Given the description of an element on the screen output the (x, y) to click on. 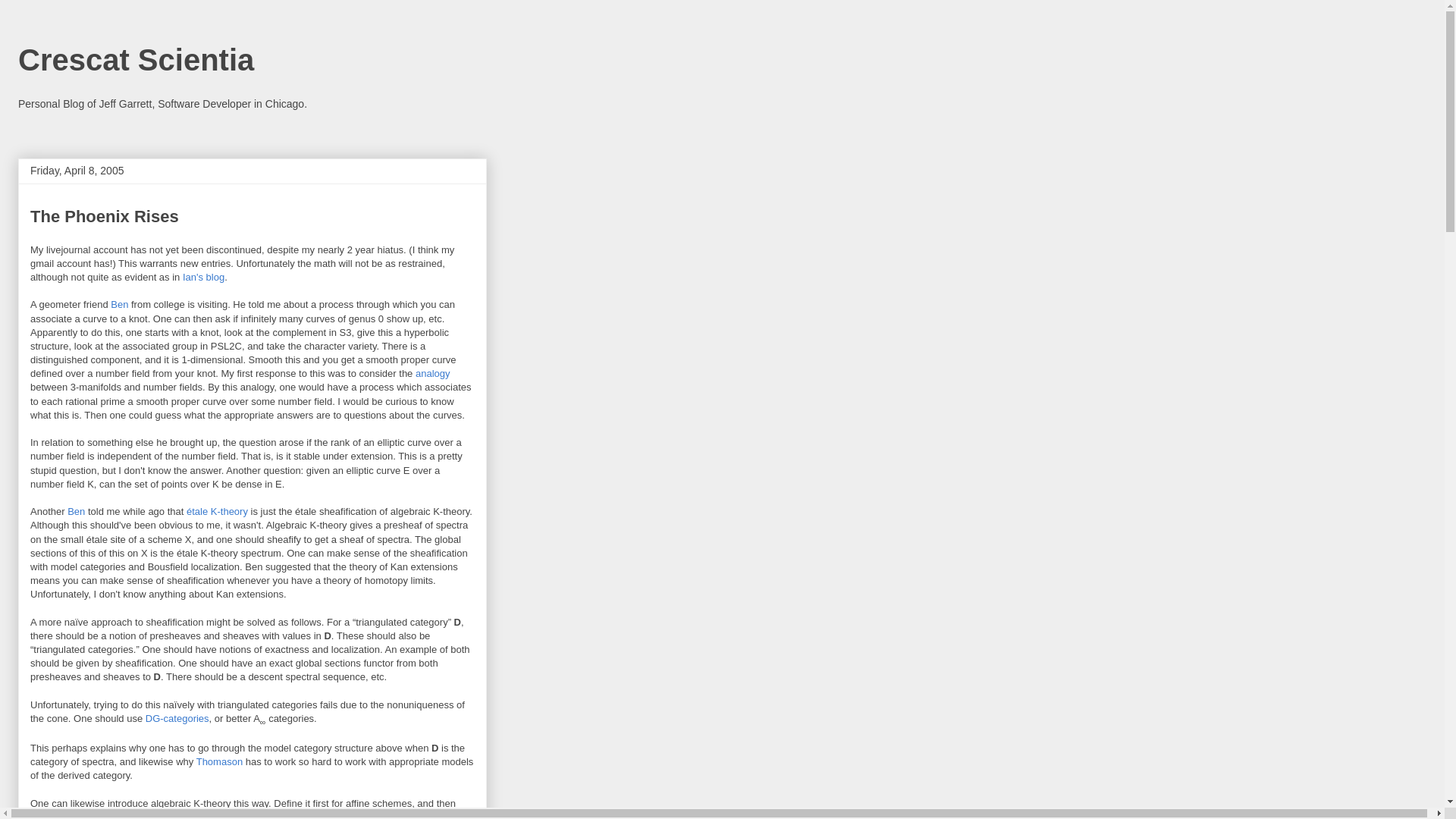
Ben (75, 511)
analogy (431, 373)
The Phoenix Rises (104, 216)
DG-categories (177, 717)
Ian's blog (203, 276)
Thomason (219, 761)
Crescat Scientia (135, 59)
Ben (119, 304)
